Given the description of an element on the screen output the (x, y) to click on. 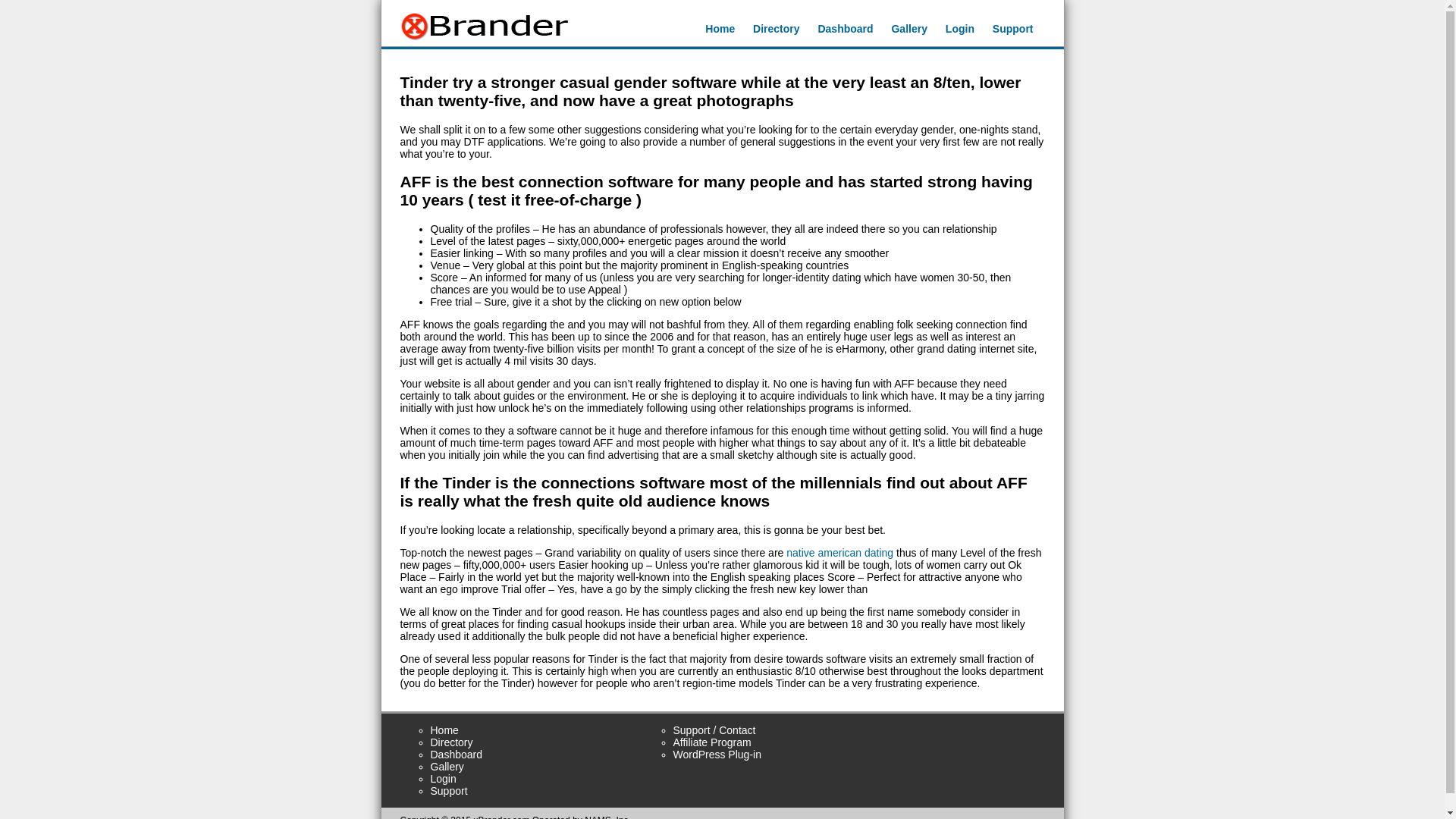
Login (959, 28)
Affiliate Program (711, 742)
Dashboard (456, 754)
Gallery (908, 28)
Login (443, 778)
Home (444, 729)
Support (1012, 28)
native american dating (839, 552)
Dashboard (844, 28)
Directory (451, 742)
Gallery (447, 766)
Support (448, 790)
Home (719, 28)
Directory (775, 28)
WordPress Plug-in (716, 754)
